Given the description of an element on the screen output the (x, y) to click on. 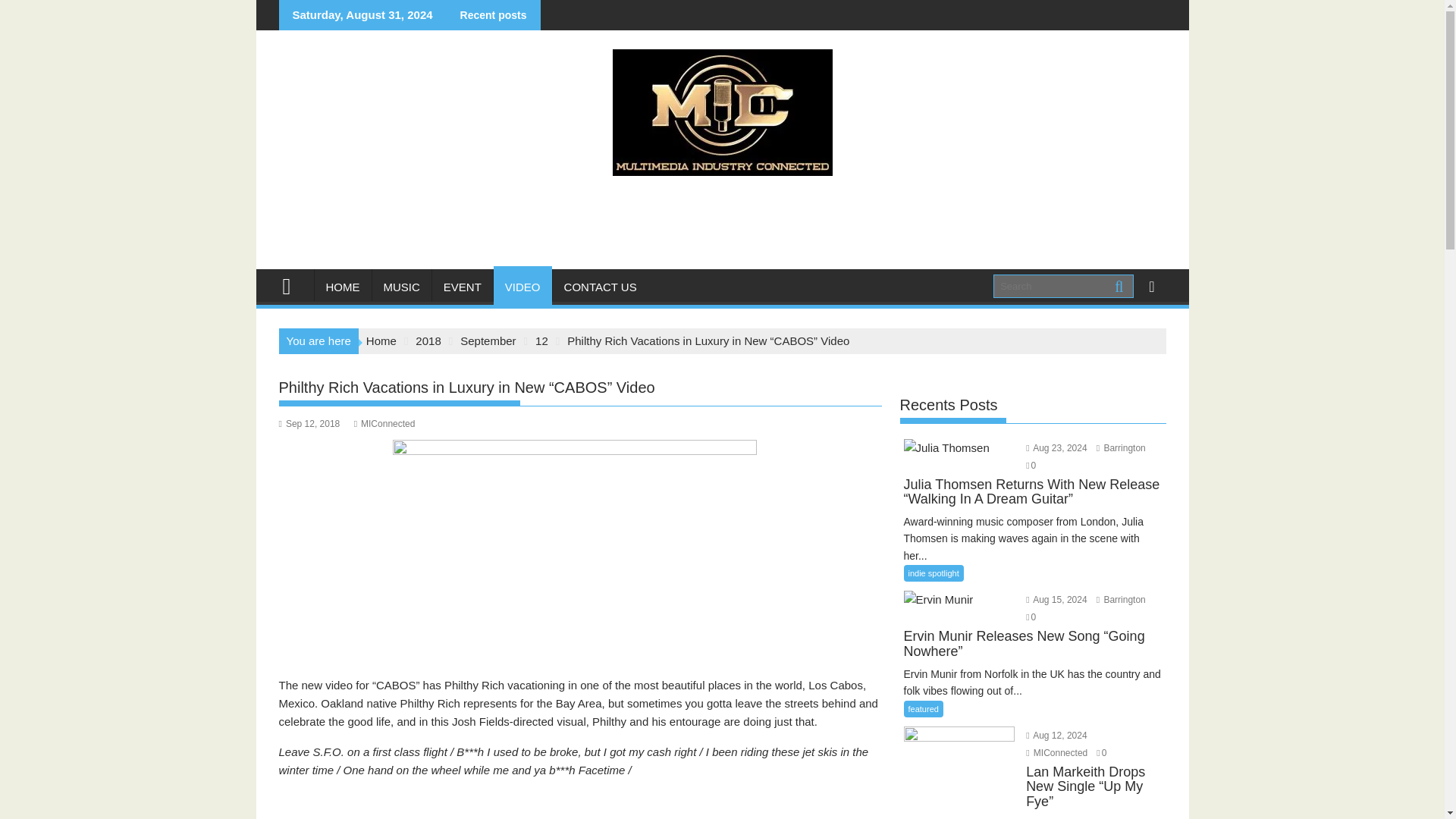
CONTACT US (600, 287)
Home (381, 340)
HOME (342, 287)
2018 (427, 340)
MIConnected (383, 423)
September (487, 340)
M.I.Connected (293, 284)
VIDEO (522, 287)
EVENT (462, 287)
Sep 12, 2018 (309, 423)
